Given the description of an element on the screen output the (x, y) to click on. 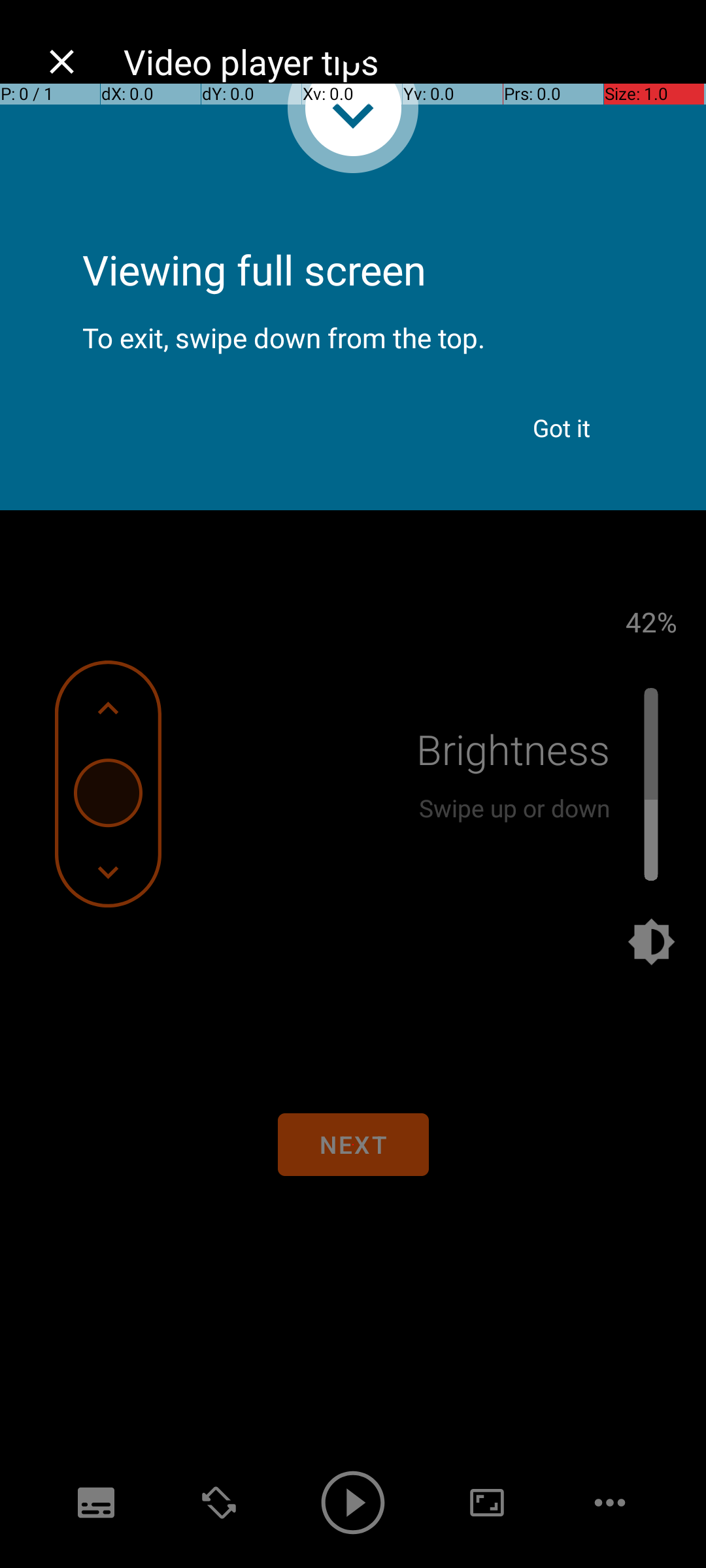
42% Element type: android.widget.TextView (650, 621)
Brightness Element type: android.widget.TextView (512, 748)
Swipe up or down Element type: android.widget.TextView (514, 807)
Viewing full screen Element type: android.widget.TextView (353, 235)
To exit, swipe down from the top. Element type: android.widget.TextView (353, 326)
Got it Element type: android.widget.Button (561, 427)
